Given the description of an element on the screen output the (x, y) to click on. 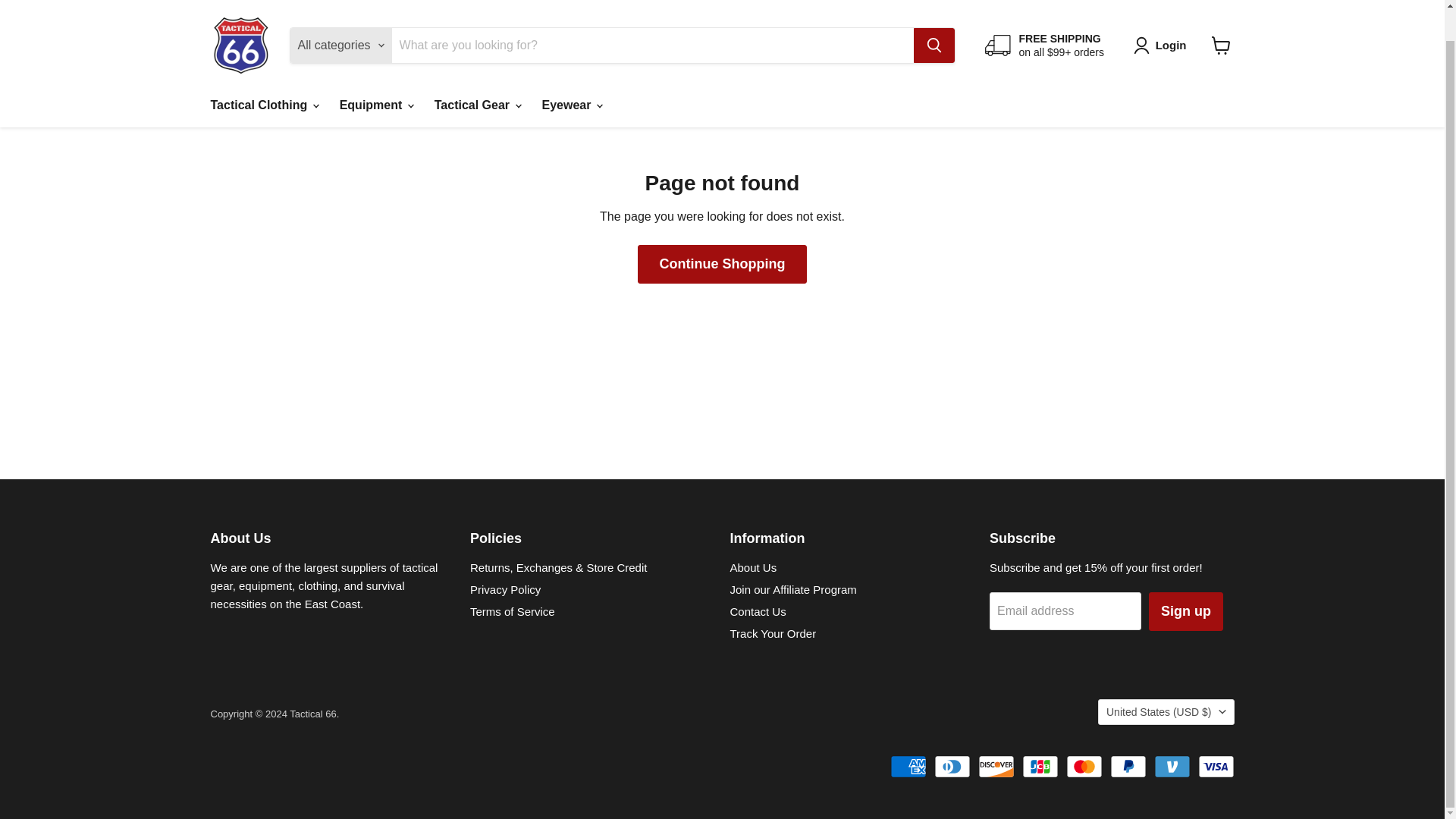
JCB (1040, 766)
Visa (1216, 766)
American Express (907, 766)
Discover (996, 766)
View cart (1221, 15)
Venmo (1172, 766)
Diners Club (952, 766)
PayPal (1128, 766)
Mastercard (1083, 766)
Login (1163, 13)
